Given the description of an element on the screen output the (x, y) to click on. 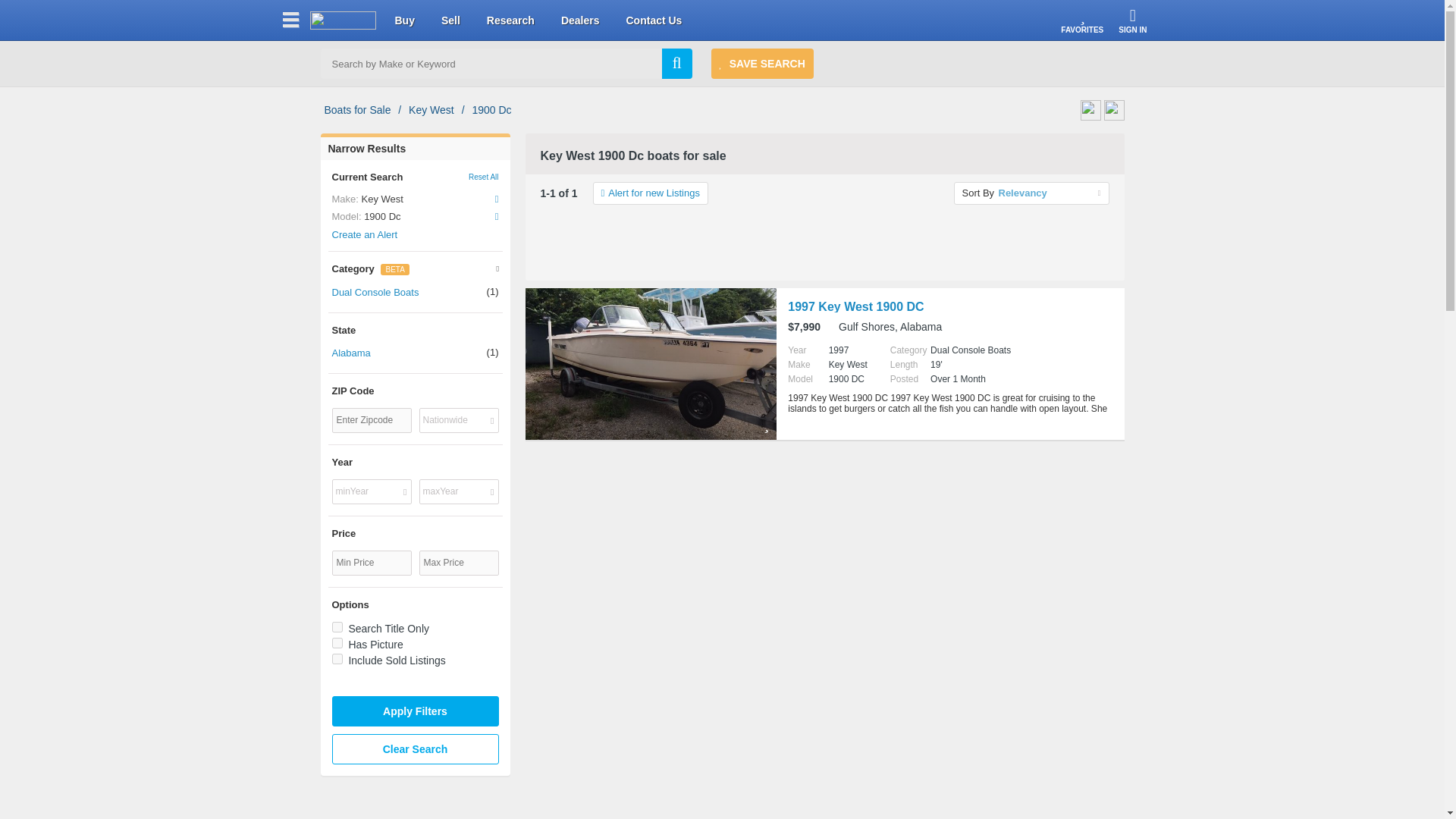
Contact Us (654, 20)
SAVE SEARCH (762, 63)
1 (336, 658)
Boats for Sale (357, 109)
Research (510, 20)
Key West (431, 109)
Dealers (579, 20)
Alert for new Listings (649, 192)
FAVORITES (1082, 22)
Buy (403, 20)
SIGN IN (1132, 22)
Sell (450, 20)
1 (336, 626)
1 (336, 643)
